Given the description of an element on the screen output the (x, y) to click on. 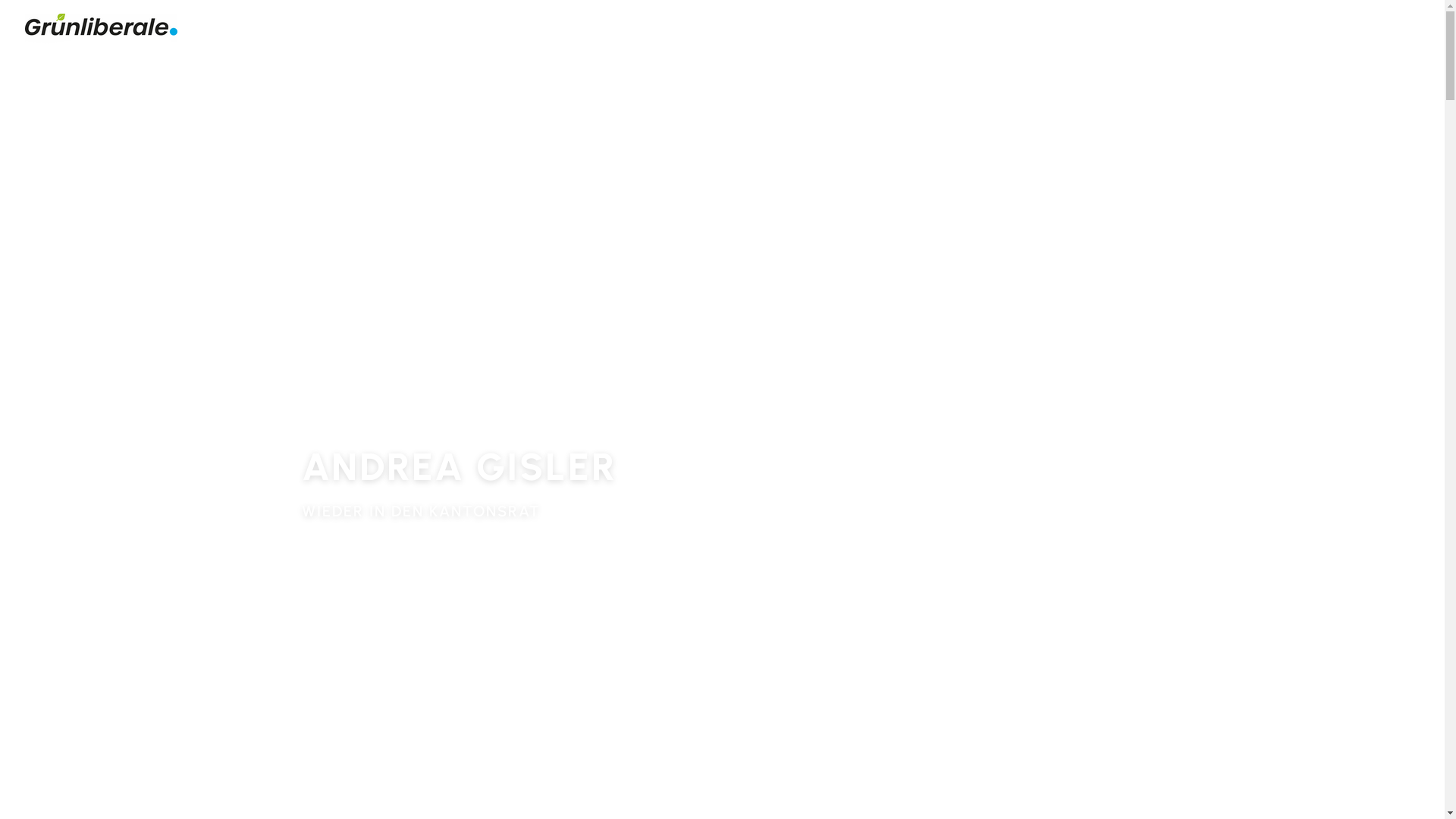
KONTAKT Element type: text (1385, 31)
POLITIK Element type: text (1124, 31)
FOTOS Element type: text (1316, 31)
IN DEN MEDIEN Element type: text (1222, 31)
STARTSEITE Element type: text (942, 31)
